Given the description of an element on the screen output the (x, y) to click on. 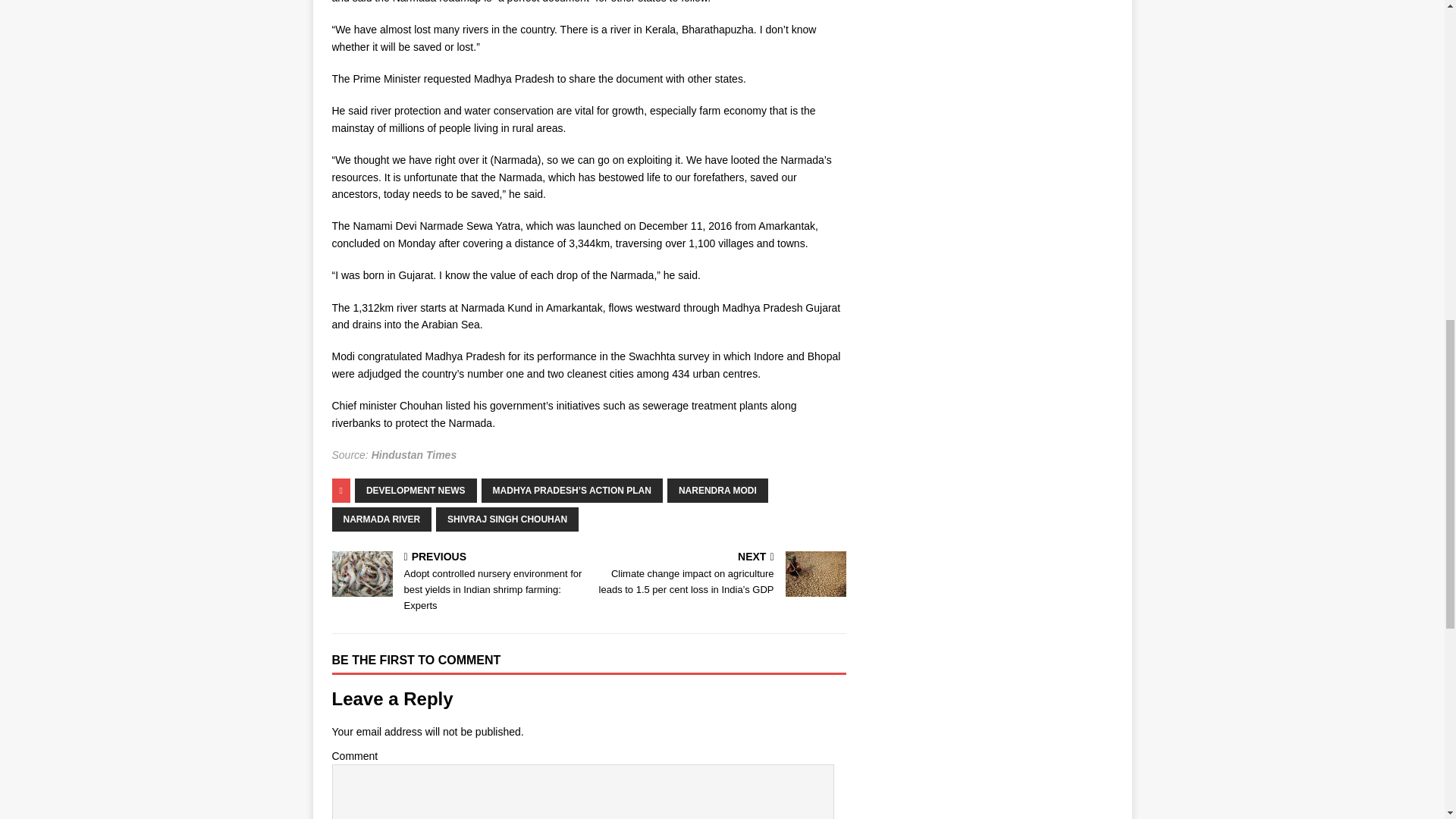
Hindustan Times (414, 454)
NARENDRA MODI (717, 490)
DEVELOPMENT NEWS (416, 490)
